Given the description of an element on the screen output the (x, y) to click on. 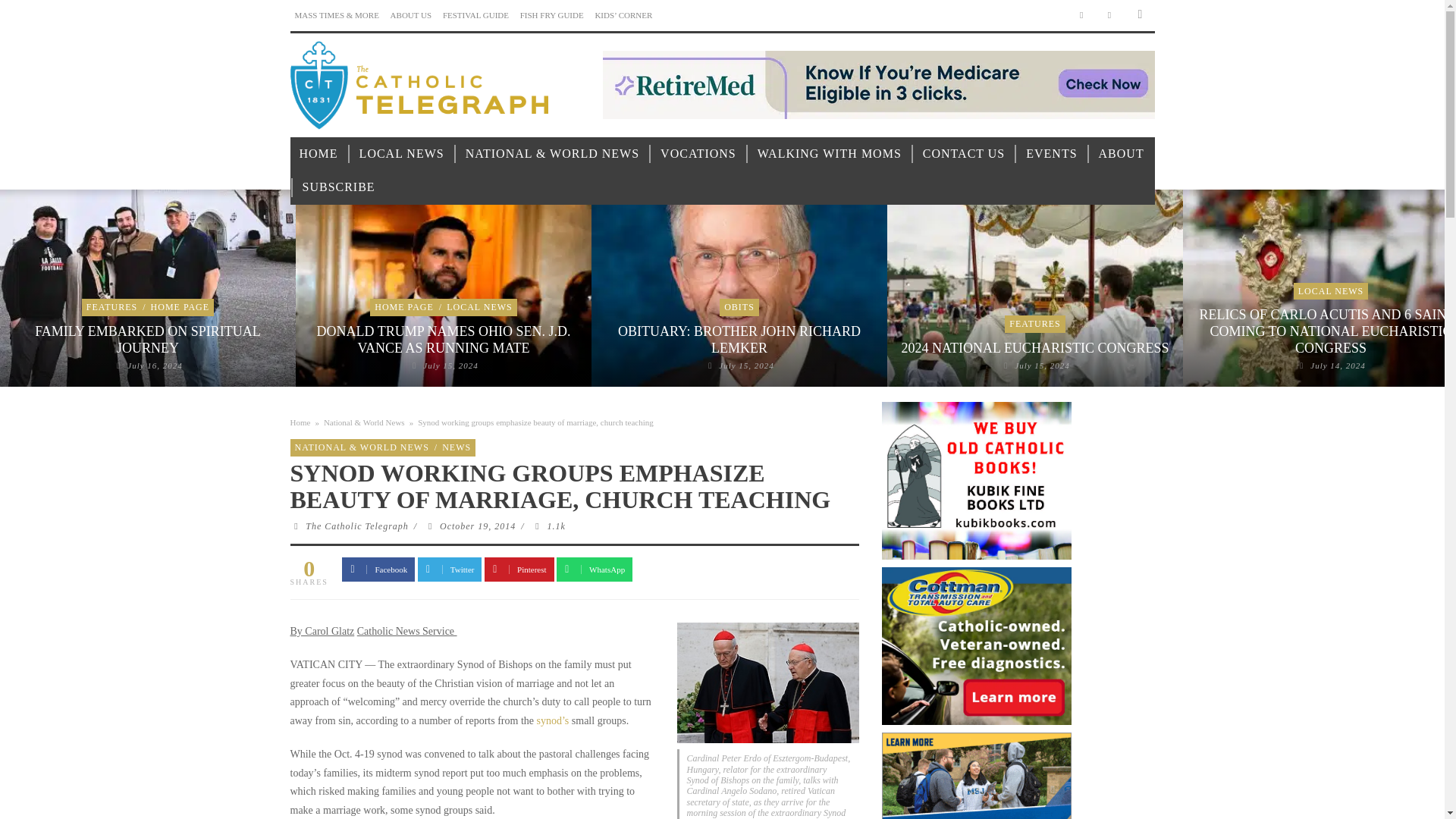
Twitter (1110, 15)
Permalink to Family Embarked on Spiritual Journey (147, 339)
View all posts in Features (110, 307)
View all posts in Local News (479, 307)
ABOUT US (410, 15)
View all posts in Home Page (180, 307)
Permalink to Family Embarked on Spiritual Journey (155, 365)
LOCAL NEWS (401, 154)
FESTIVAL GUIDE (475, 15)
HOME (317, 154)
EVENTS (1051, 154)
ABOUT (1121, 154)
VOCATIONS (697, 154)
Facebook (1081, 15)
